Given the description of an element on the screen output the (x, y) to click on. 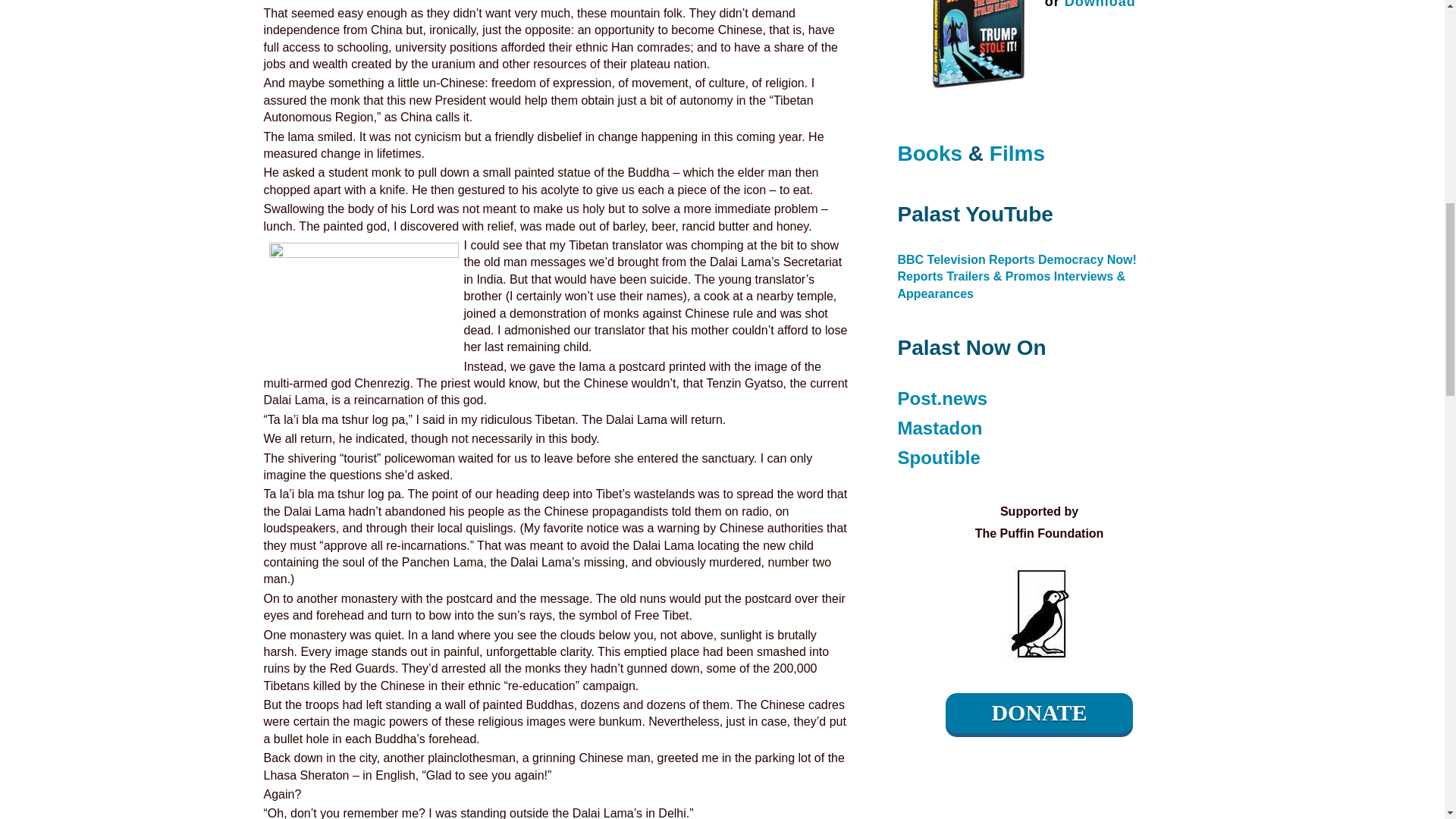
Tibetan Monk (362, 304)
